Given the description of an element on the screen output the (x, y) to click on. 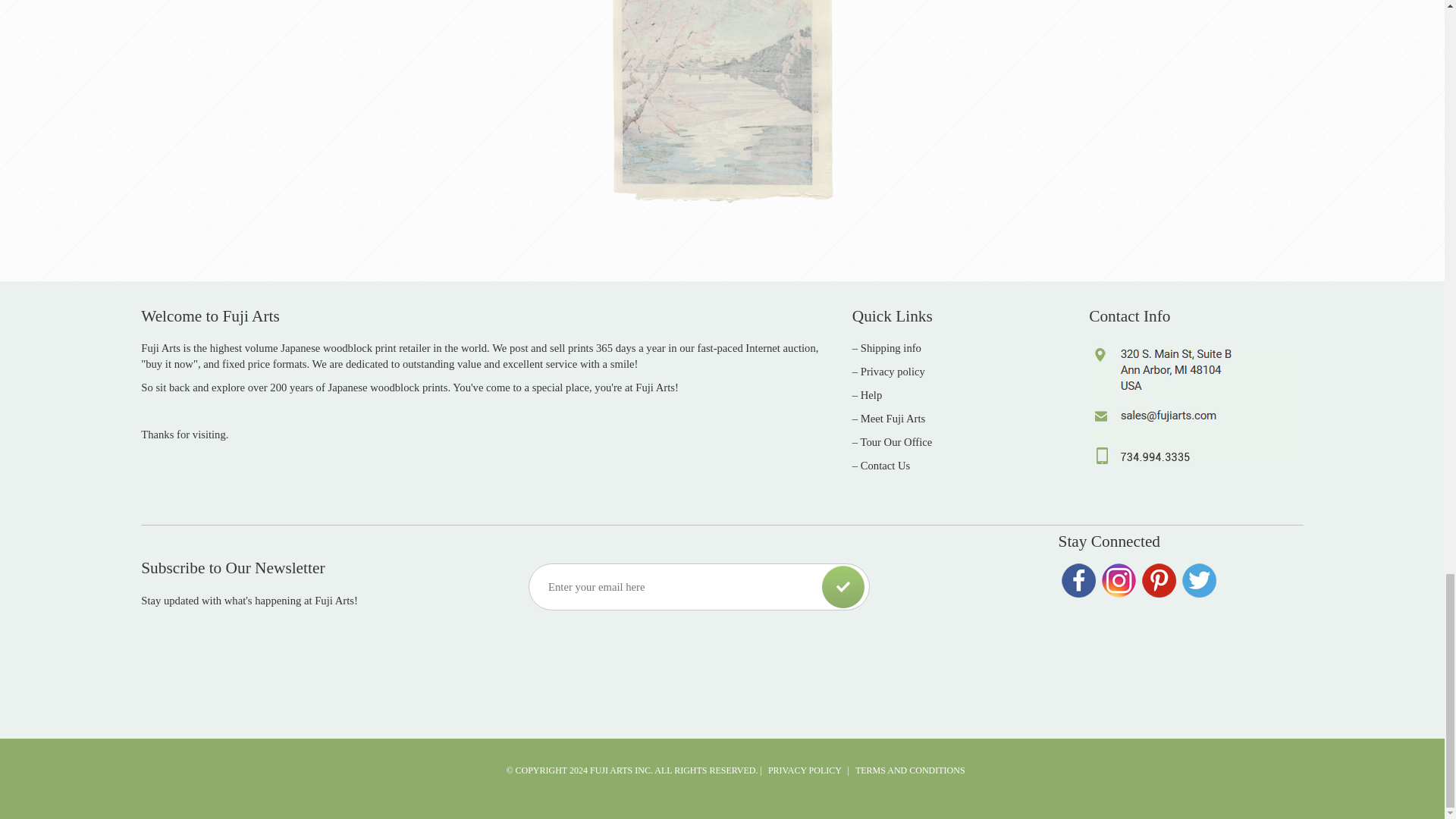
Meet Fuji Arts (893, 418)
Shipping info (890, 347)
Contact Us (885, 465)
Privacy policy (892, 371)
PRIVACY POLICY (805, 770)
TERMS AND CONDITIONS (910, 770)
Help (871, 395)
Tour Our Office (895, 441)
